Given the description of an element on the screen output the (x, y) to click on. 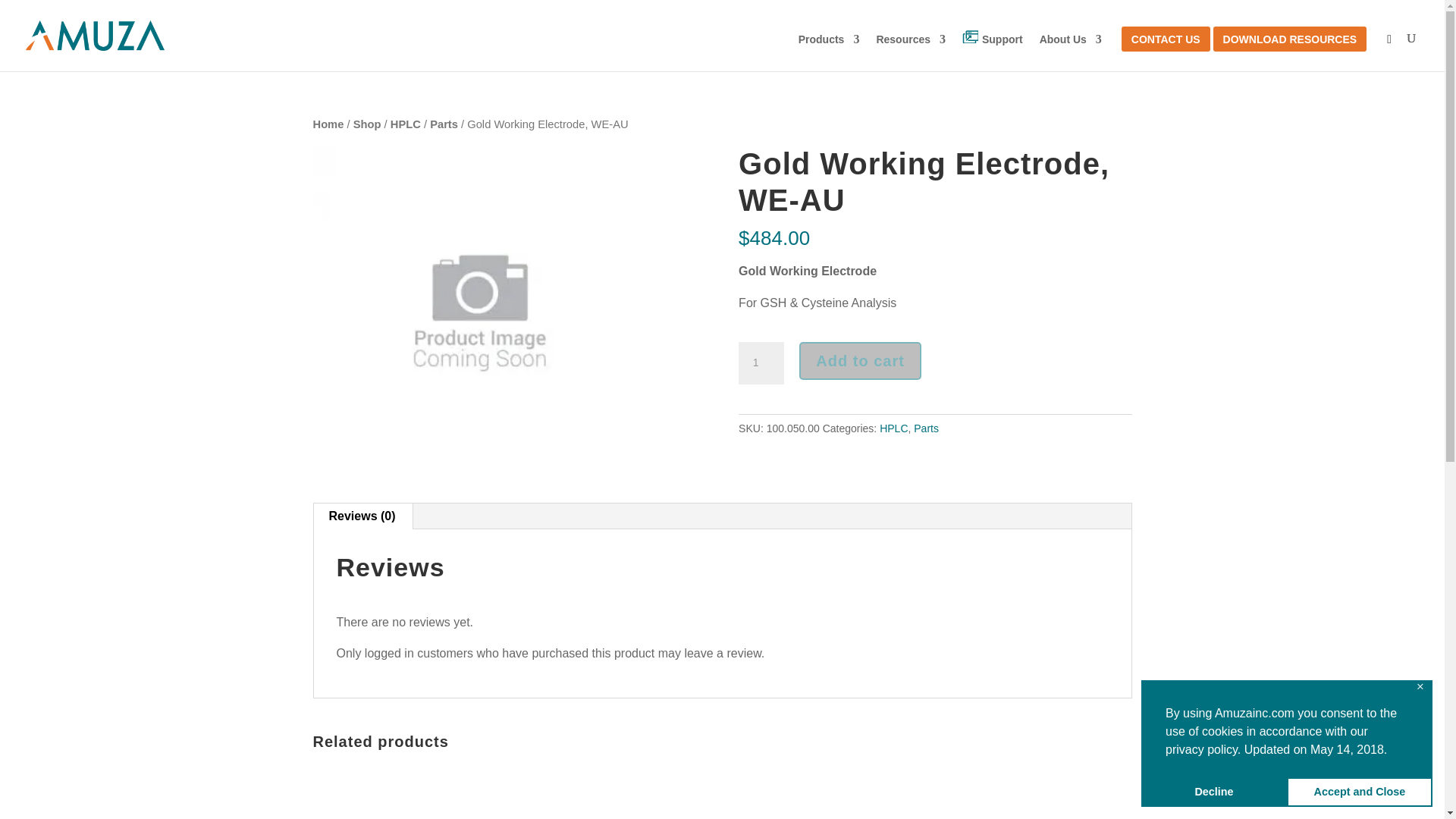
product-image-coming-soon (479, 312)
Products (828, 48)
1 (761, 363)
Decline (1214, 791)
Accept and Close (1359, 791)
Resources (910, 48)
